Given the description of an element on the screen output the (x, y) to click on. 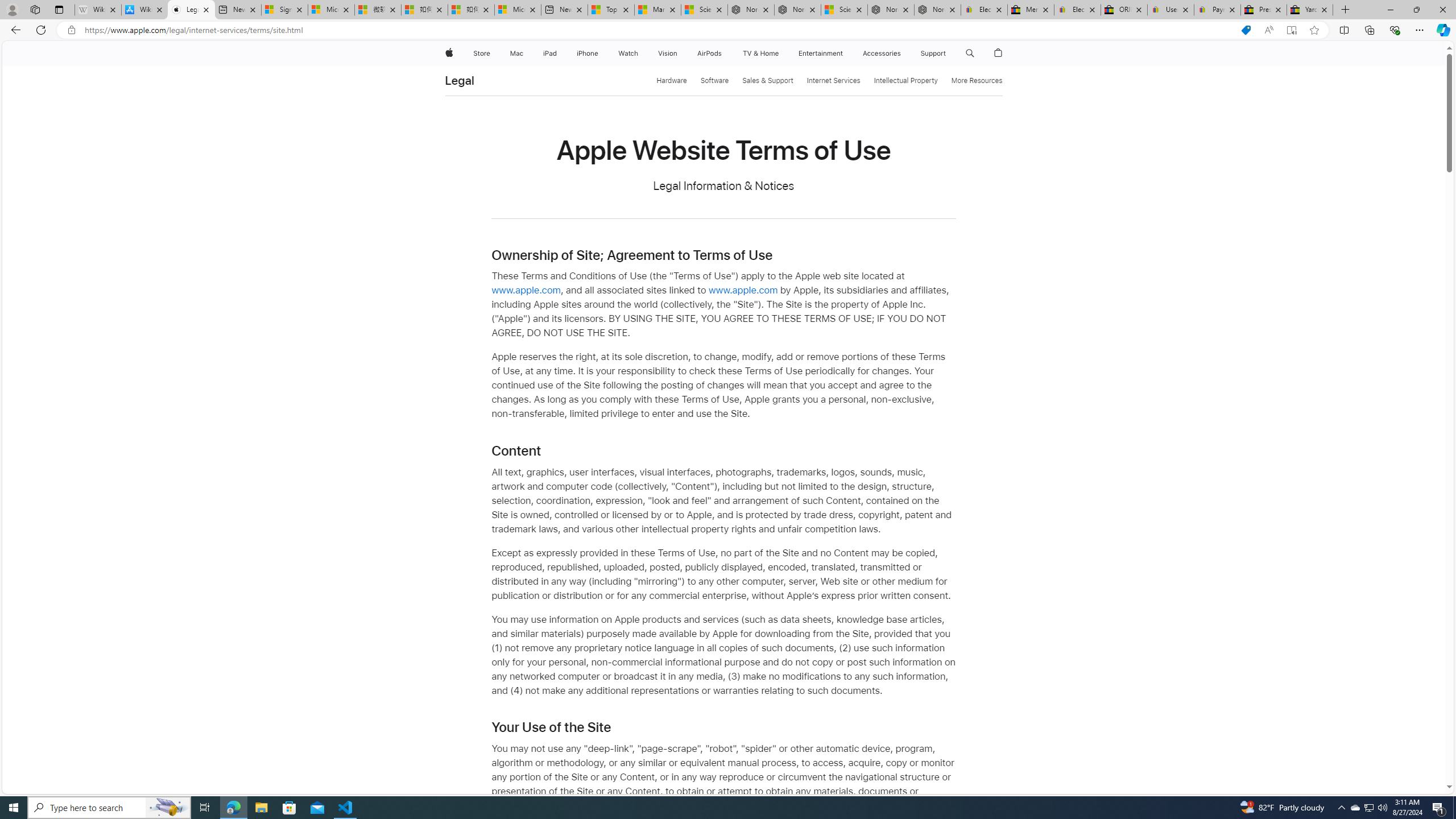
Apple (448, 53)
Support (932, 53)
Store (481, 53)
AirPods menu (723, 53)
iPad (550, 53)
AirPods (709, 53)
AutomationID: globalnav-bag (998, 53)
